Given the description of an element on the screen output the (x, y) to click on. 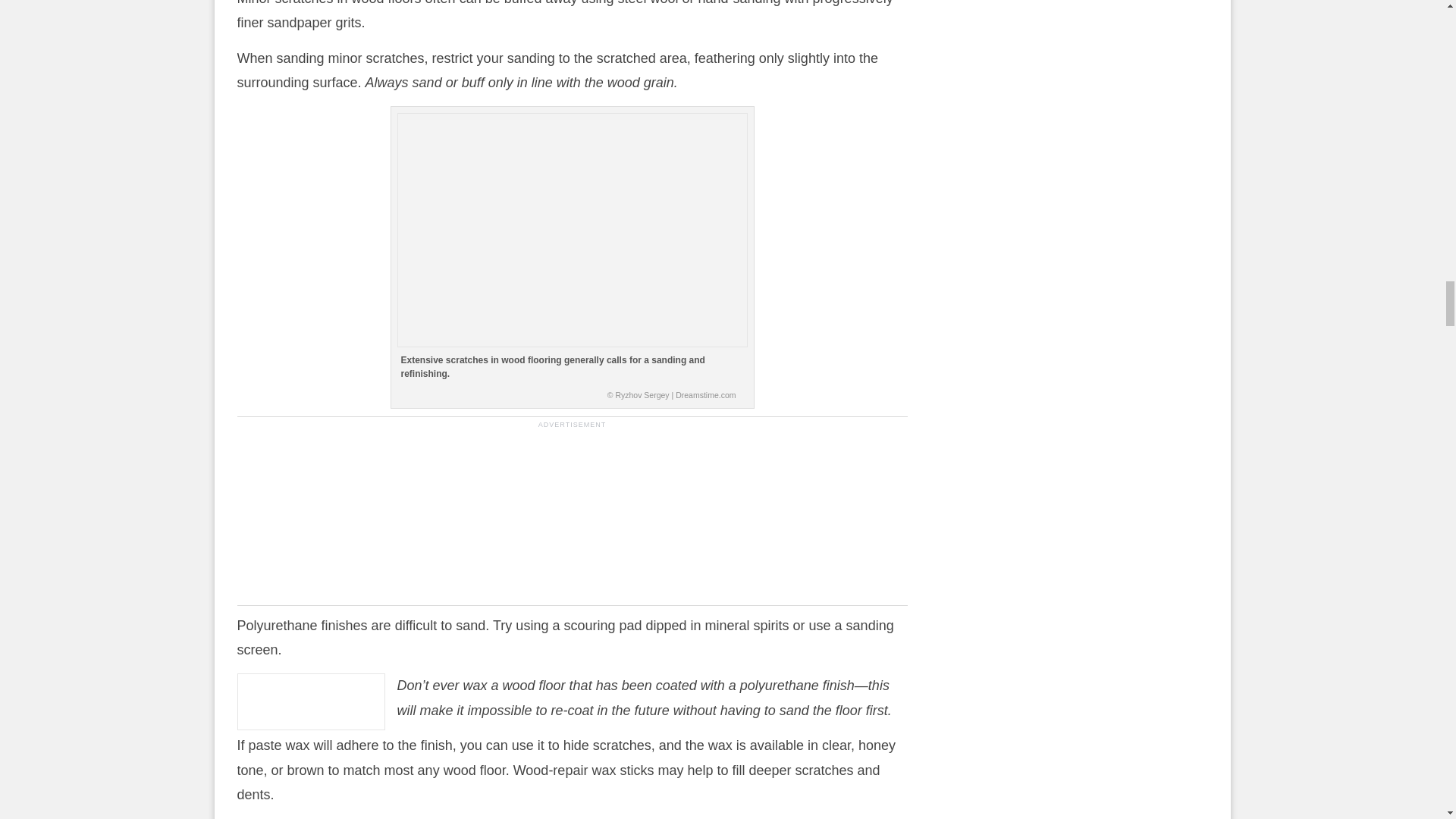
scratched-wood-floor (572, 230)
